Given the description of an element on the screen output the (x, y) to click on. 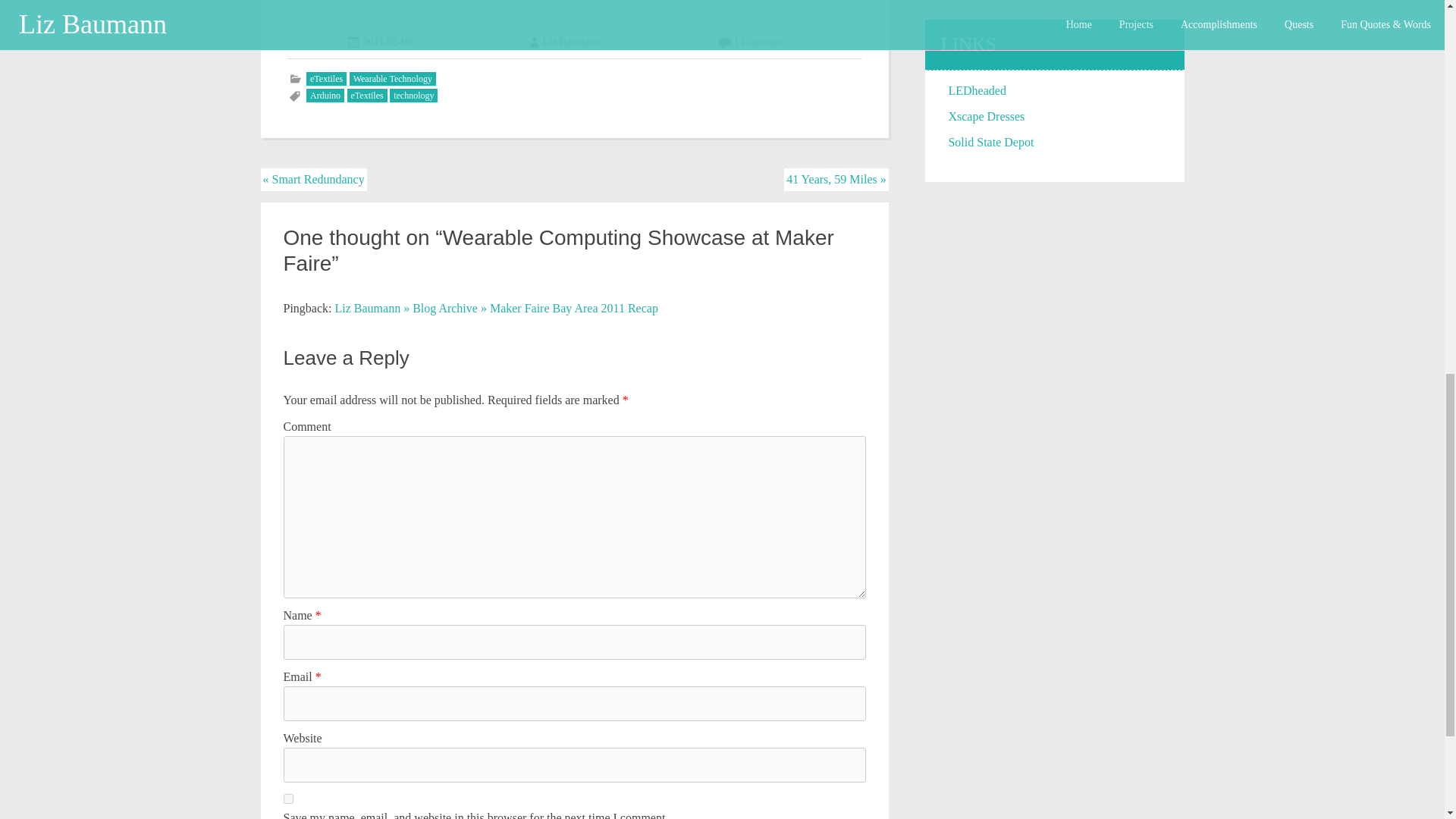
Arduino (324, 95)
2011-05-09 (387, 41)
eTextiles (325, 78)
Liz Baumann (562, 41)
technology (414, 95)
eTextiles (367, 95)
1 Comment (758, 41)
yes (288, 798)
Wearable Technology (392, 78)
